Given the description of an element on the screen output the (x, y) to click on. 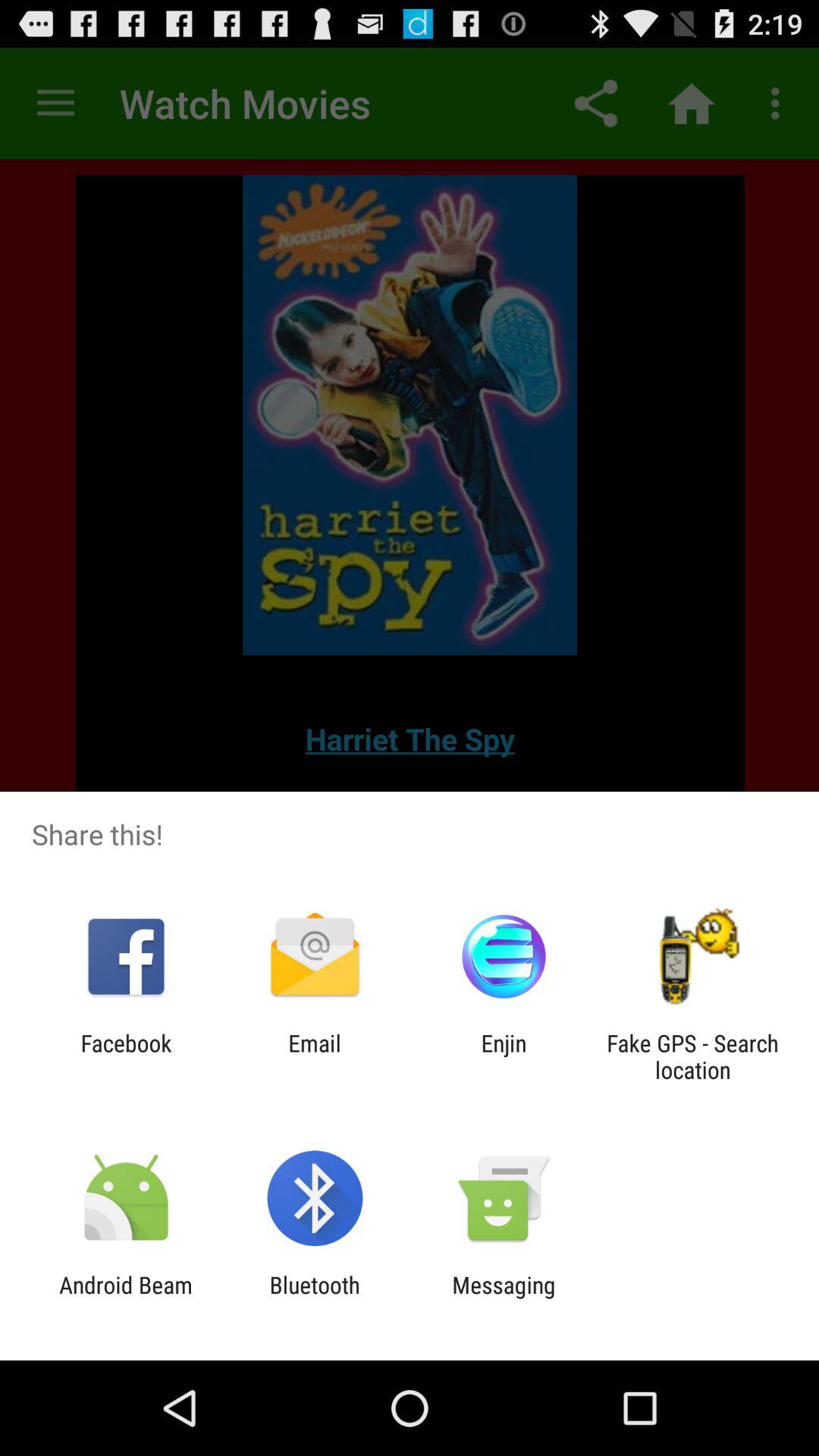
select item next to enjin icon (314, 1056)
